Given the description of an element on the screen output the (x, y) to click on. 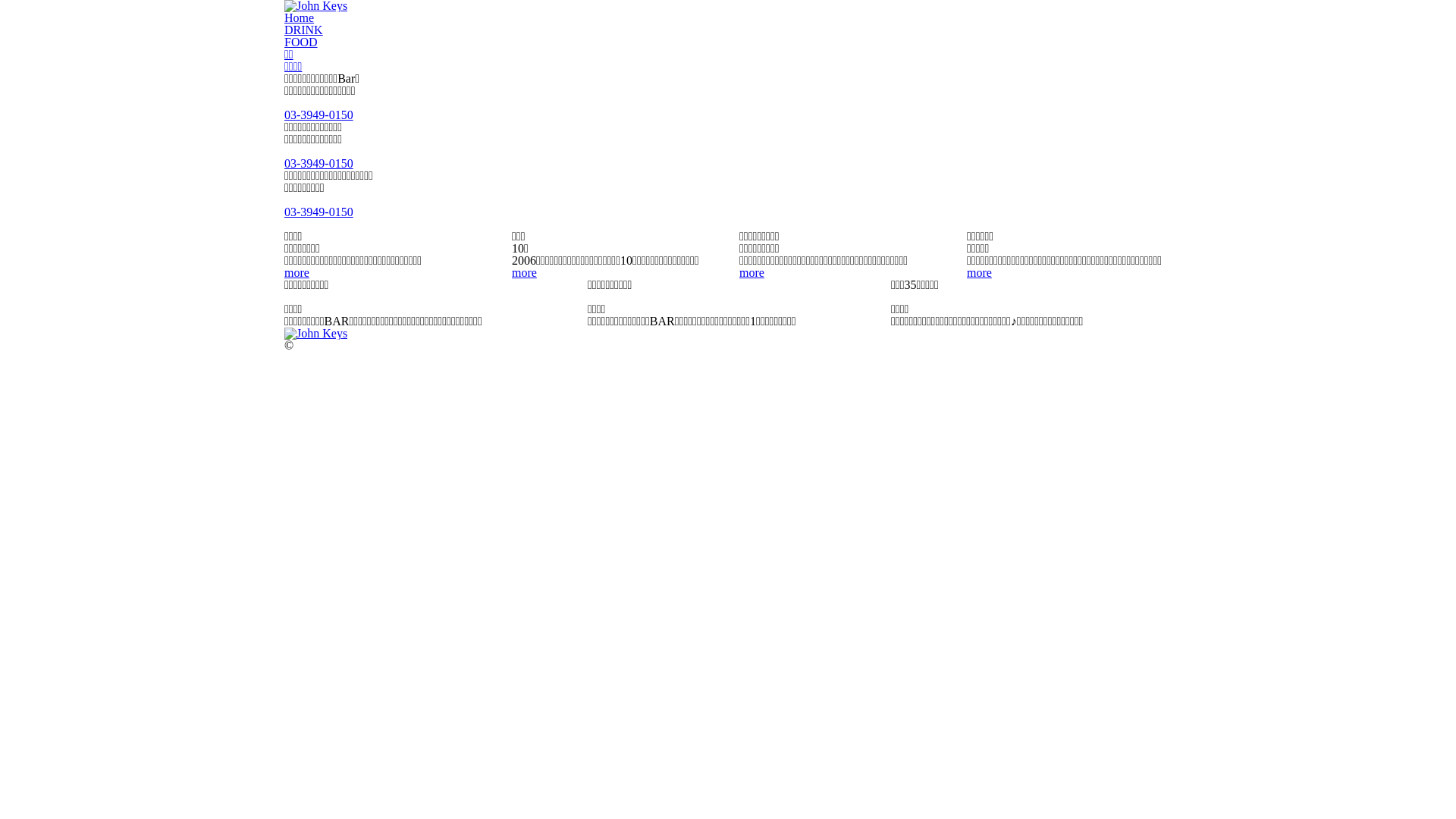
more Element type: text (523, 272)
DRINK Element type: text (303, 29)
more Element type: text (751, 272)
Home Element type: text (298, 17)
more Element type: text (296, 272)
more Element type: text (978, 272)
FOOD Element type: text (300, 41)
